Given the description of an element on the screen output the (x, y) to click on. 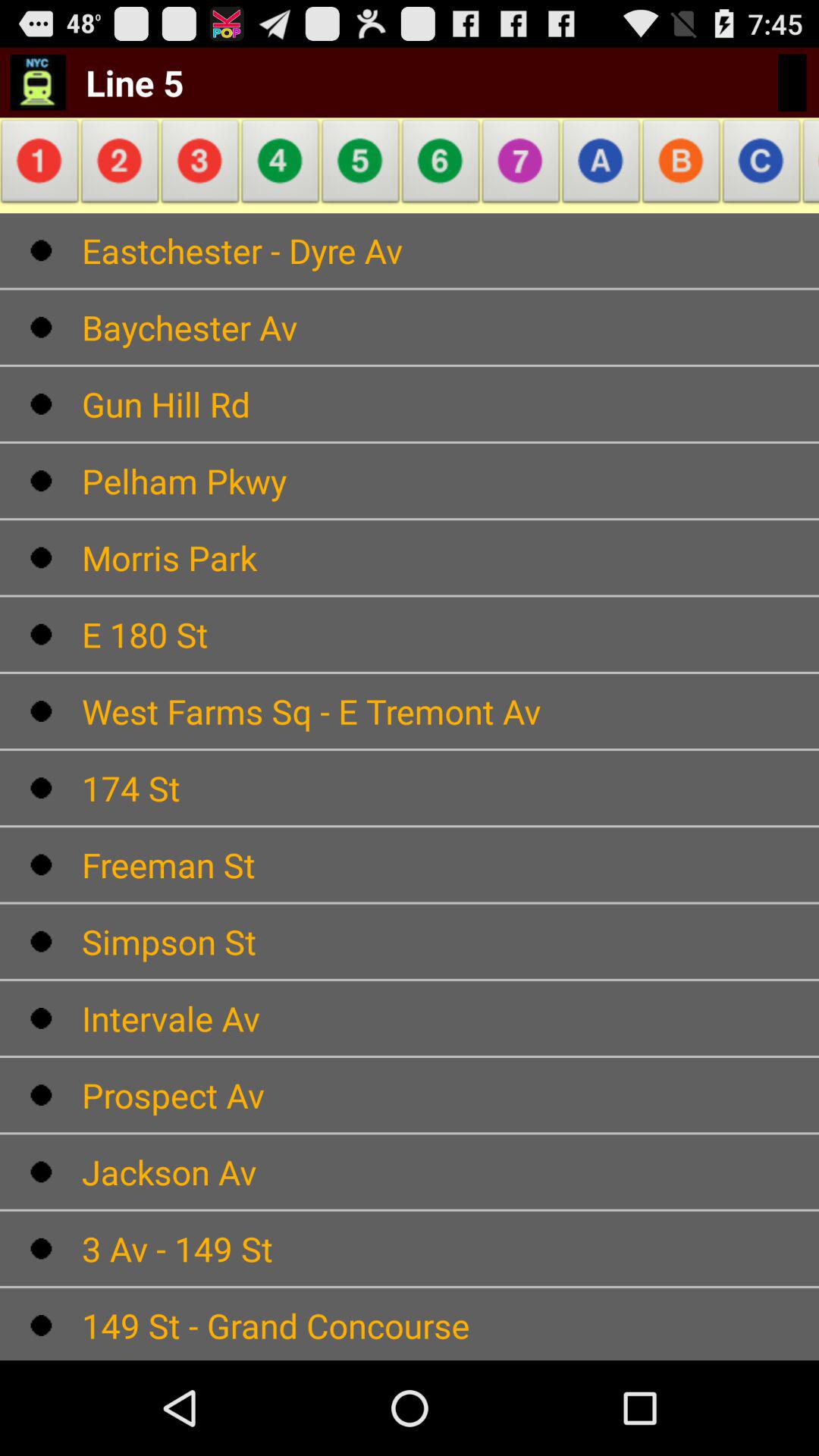
turn on the icon above eastchester - dyre av (200, 165)
